Given the description of an element on the screen output the (x, y) to click on. 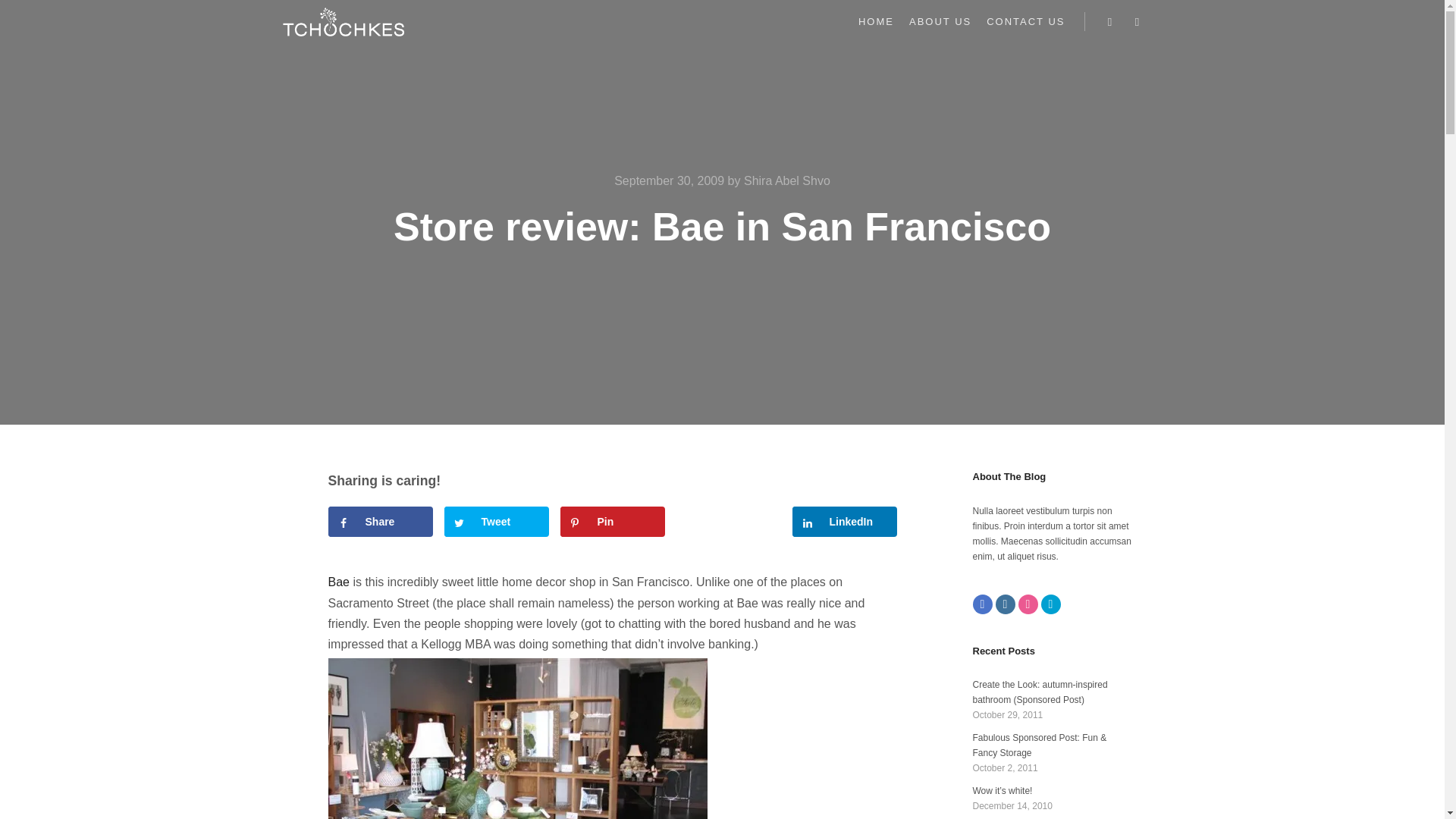
LinkedIn (844, 521)
Share (379, 521)
View all posts by Shira Abel Shvo (786, 180)
Save to Pinterest (611, 521)
Hidden sidebar (1137, 21)
Share on LinkedIn (844, 521)
Share on Share (379, 521)
Shira Abel Shvo (786, 180)
Bae (338, 581)
HOME (875, 21)
Bea (516, 738)
CONTACT US (1024, 21)
Pin (611, 521)
Search (1110, 21)
Share on Tweet (496, 521)
